Given the description of an element on the screen output the (x, y) to click on. 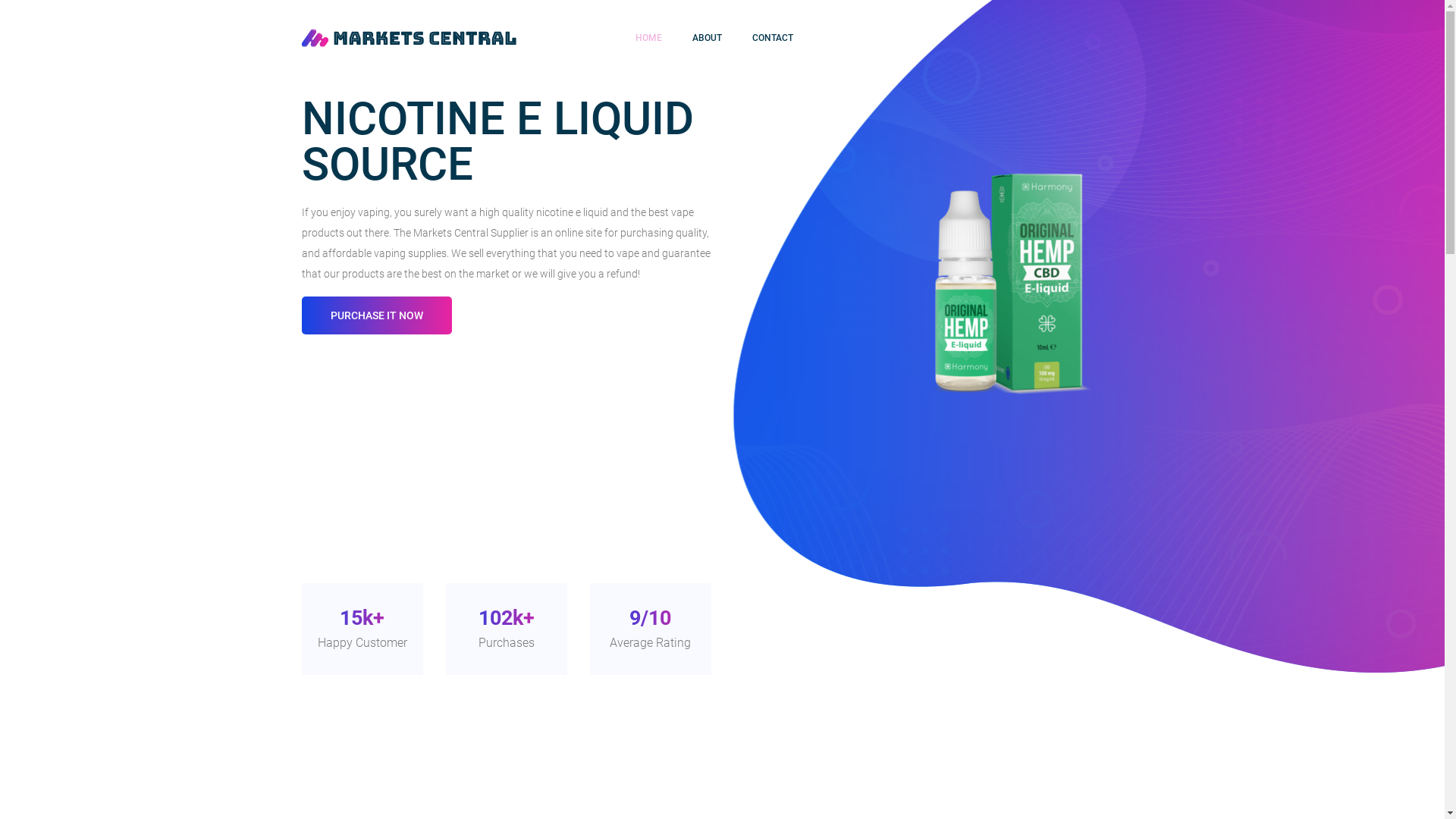
ABOUT Element type: text (706, 37)
HOME Element type: text (648, 37)
CONTACT Element type: text (772, 37)
PURCHASE IT NOW Element type: text (376, 314)
